Given the description of an element on the screen output the (x, y) to click on. 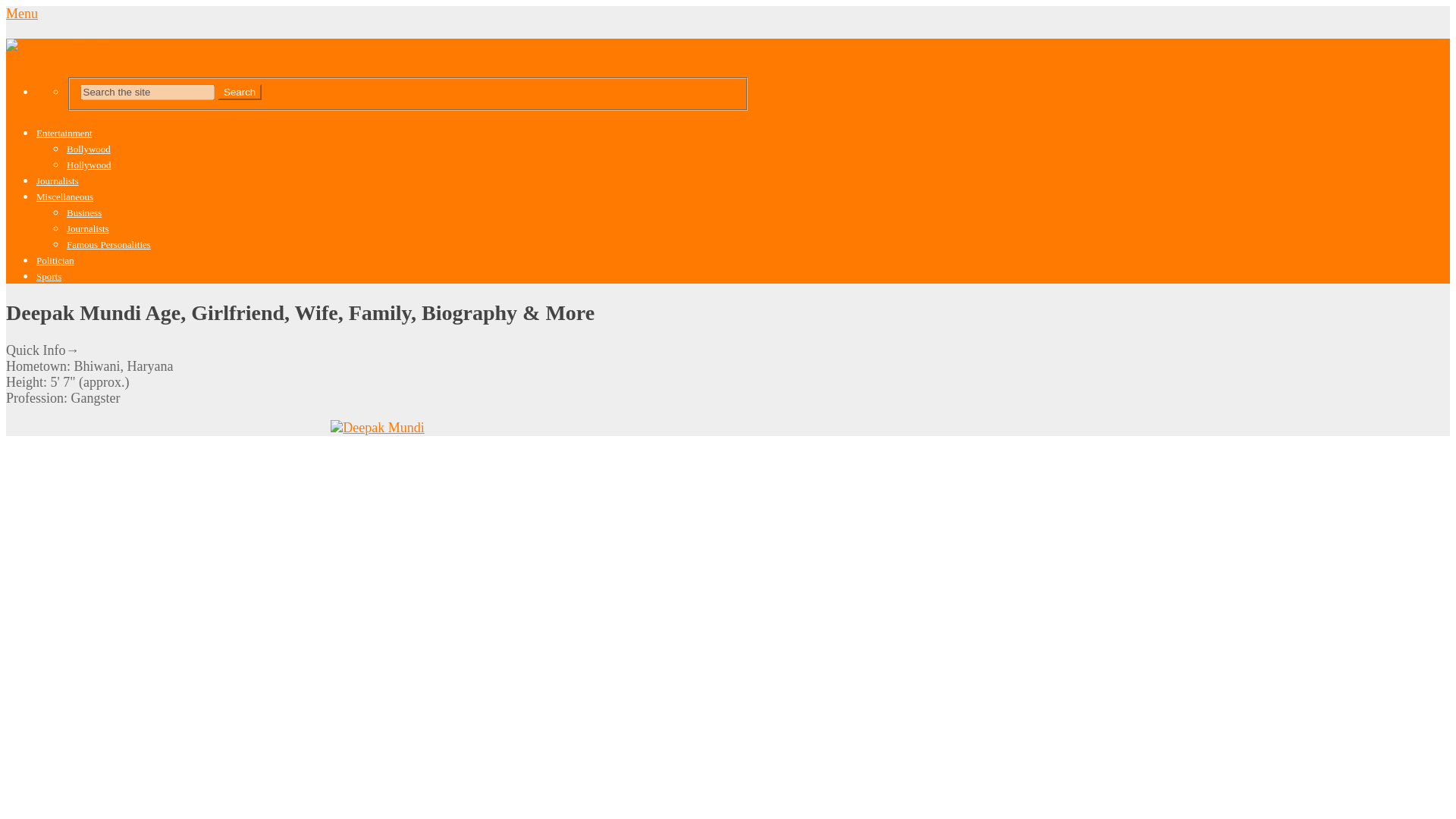
Business (83, 212)
Journalists (57, 180)
Sports (48, 276)
Politician (55, 260)
Miscellaneous (64, 196)
Famous Personalities (108, 244)
Bollywood (88, 148)
Search the site (147, 91)
Hollywood (89, 164)
Entertainment (64, 132)
Menu (21, 13)
Journalists (87, 228)
Search (239, 91)
Search (239, 91)
